Given the description of an element on the screen output the (x, y) to click on. 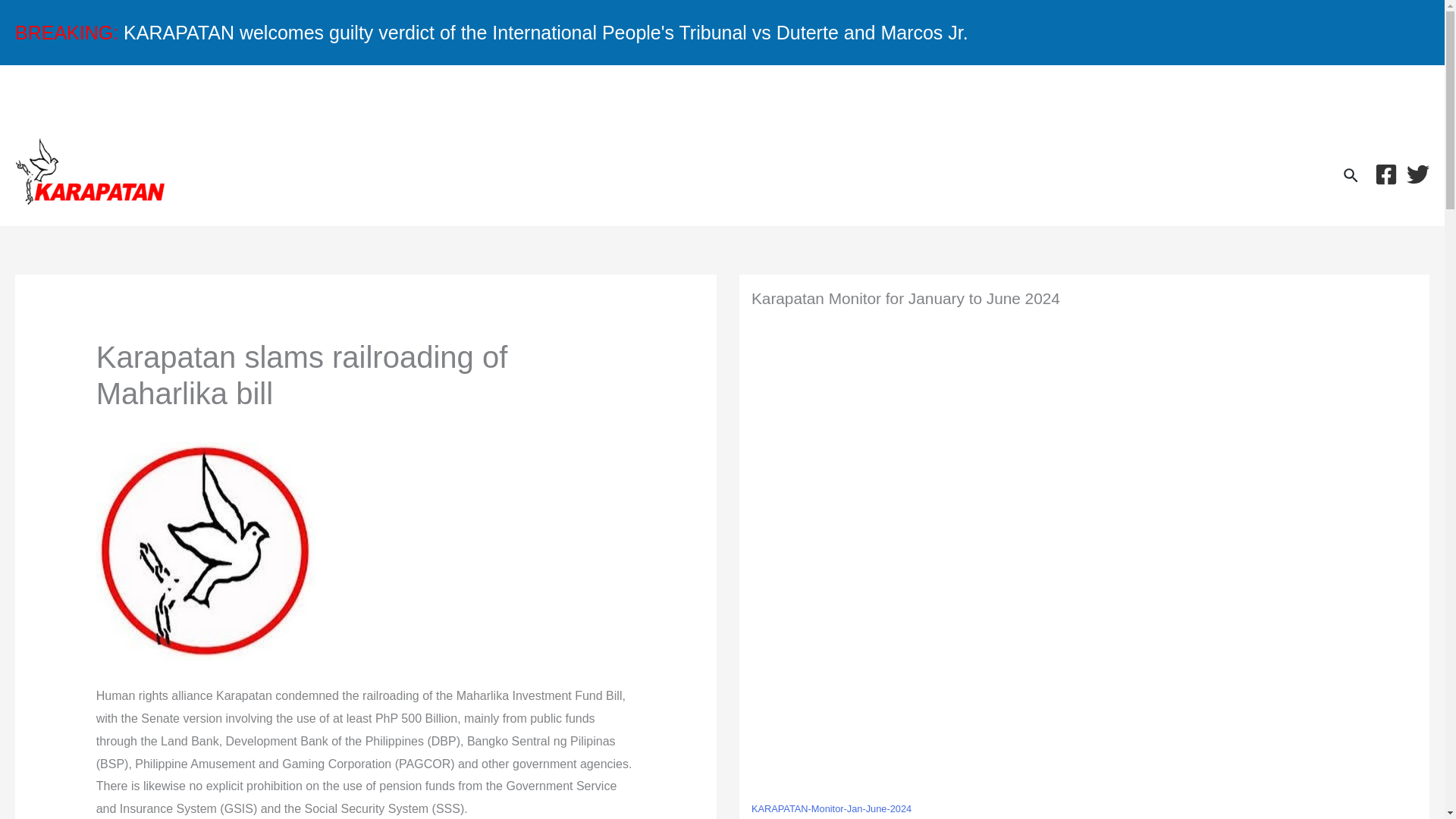
FEATURES (875, 95)
KARAPATAN-Monitor-Jan-June-2024 (831, 809)
CAMPAIGNS (260, 95)
NEWS (90, 95)
APPEALS (700, 95)
STATS AND RESOURCES (484, 95)
ABOUT US (1340, 95)
INTERNATIONAL SOLIDARITY (1108, 95)
